Given the description of an element on the screen output the (x, y) to click on. 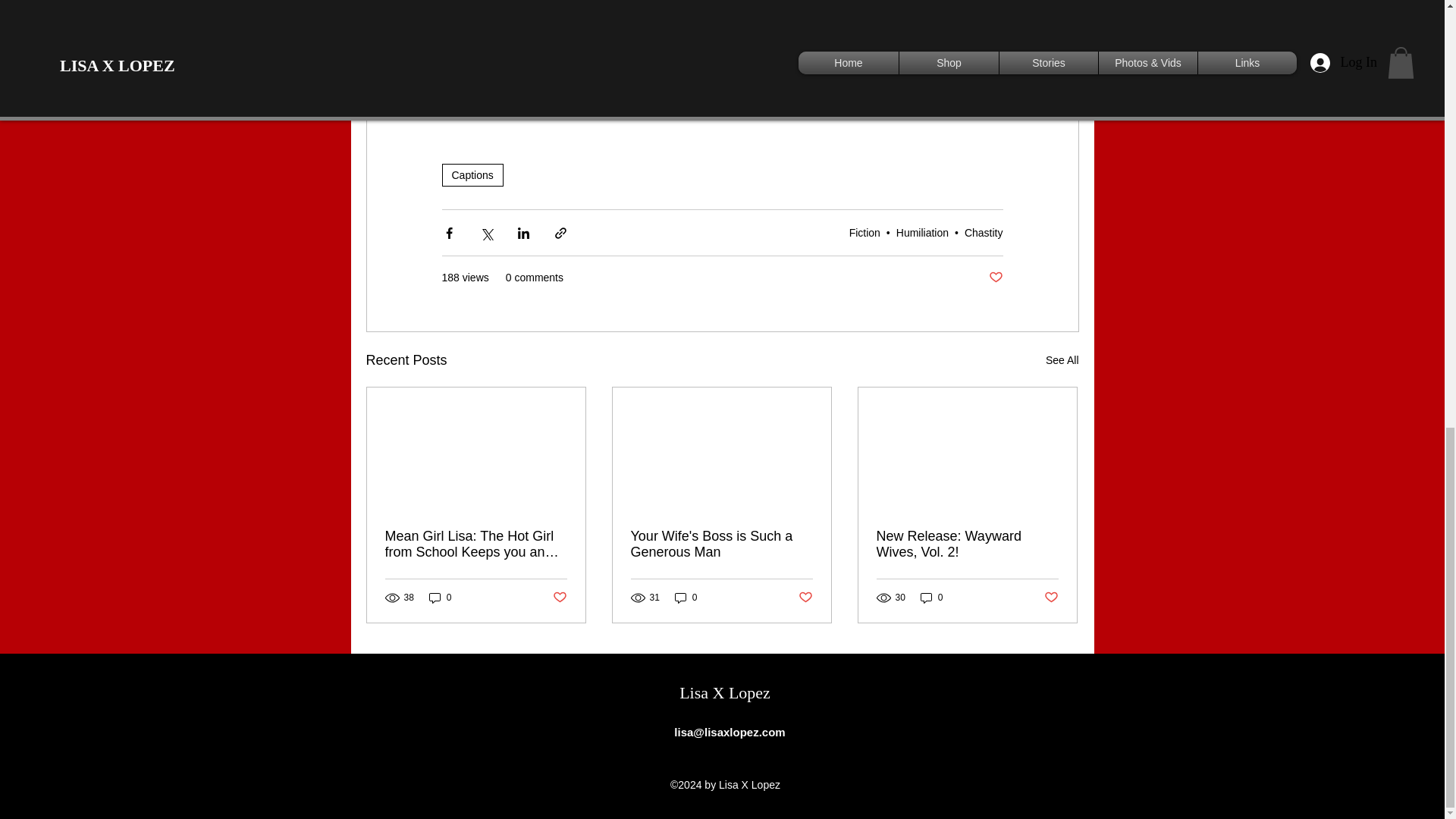
Fiction (864, 232)
Captions (471, 174)
Humiliation (922, 232)
